Given the description of an element on the screen output the (x, y) to click on. 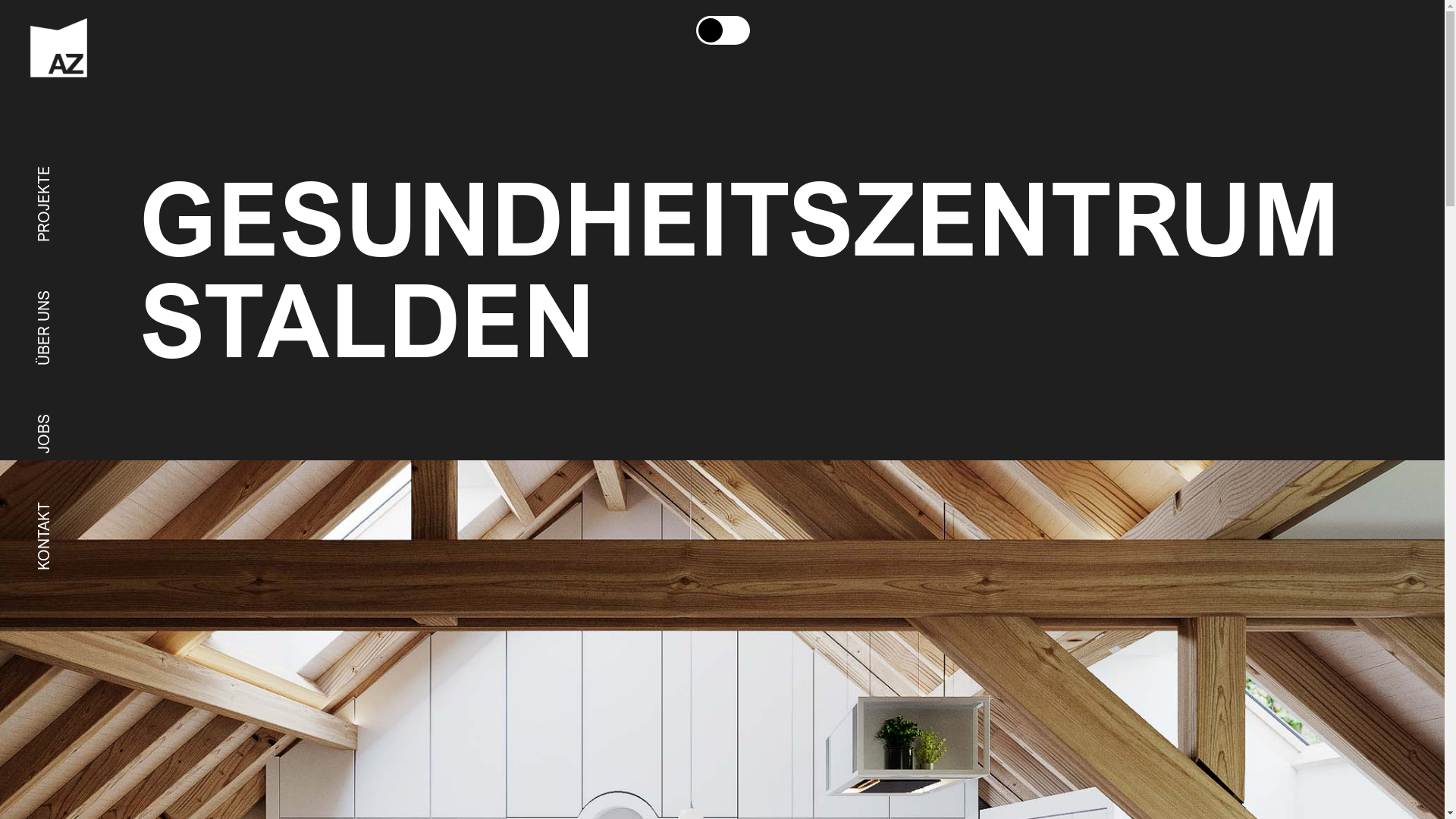
JOBS Element type: text (49, 432)
PROJEKTE Element type: text (68, 184)
KONTAKT Element type: text (64, 520)
